Given the description of an element on the screen output the (x, y) to click on. 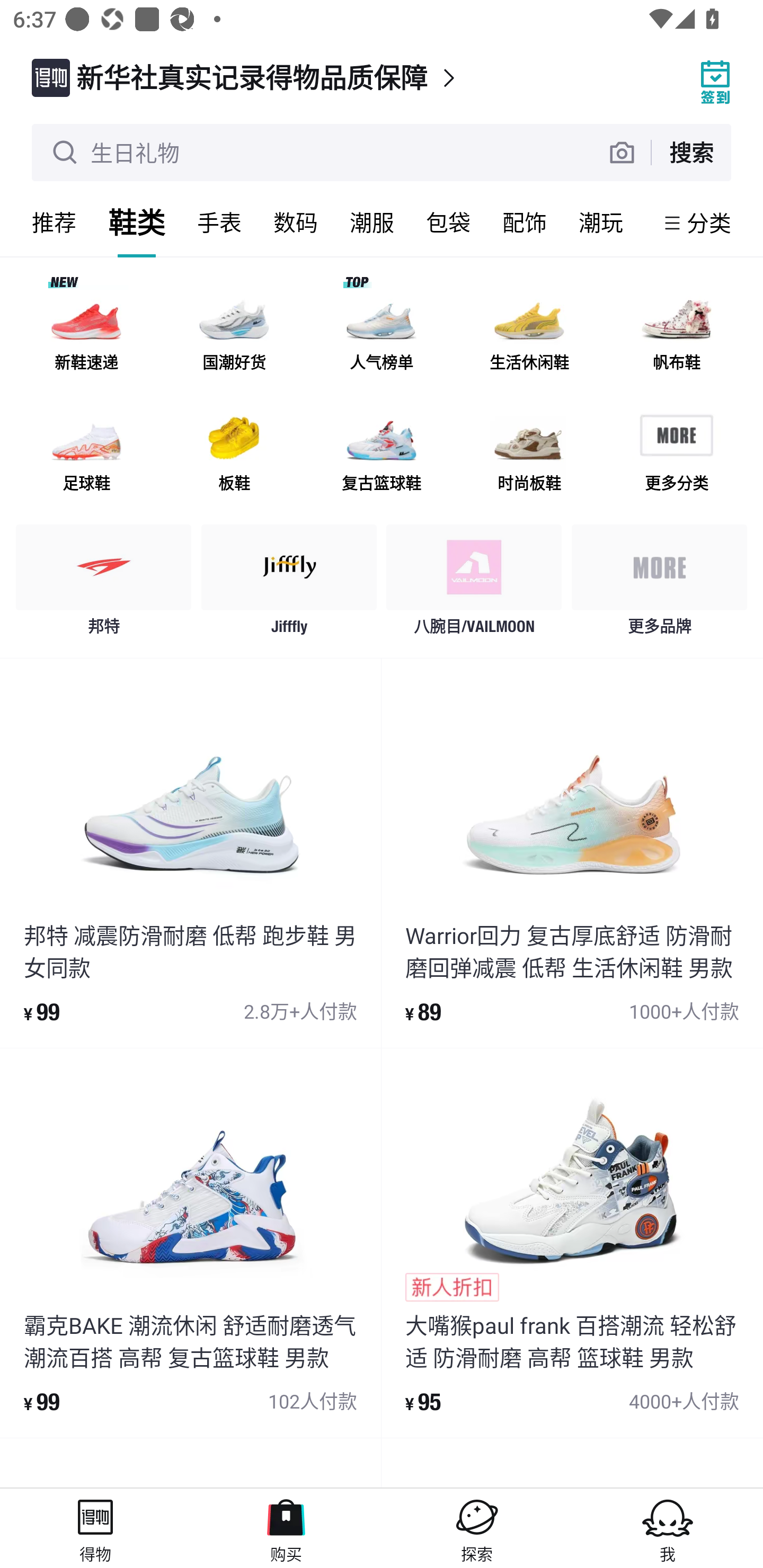
搜索 (690, 152)
推荐 (54, 222)
鞋类 (136, 222)
手表 (219, 222)
数码 (295, 222)
潮服 (372, 222)
包袋 (448, 222)
配饰 (524, 222)
潮玩 (601, 222)
分类 (708, 222)
新鞋速递 (86, 329)
国潮好货 (233, 329)
人气榜单 (381, 329)
生活休闲鞋 (528, 329)
帆布鞋 (676, 329)
足球鞋 (86, 450)
板鞋 (233, 450)
复古篮球鞋 (381, 450)
时尚板鞋 (528, 450)
更多分类 (676, 450)
邦特 (103, 583)
Jifffly (288, 583)
八腕目/VAILMOON (473, 583)
更多品牌 (658, 583)
product_item 邦特 减震防滑耐磨 低帮 跑步鞋 男
女同款 ¥ 99 2.8万+人付款 (190, 852)
得物 (95, 1528)
购买 (285, 1528)
探索 (476, 1528)
我 (667, 1528)
